Given the description of an element on the screen output the (x, y) to click on. 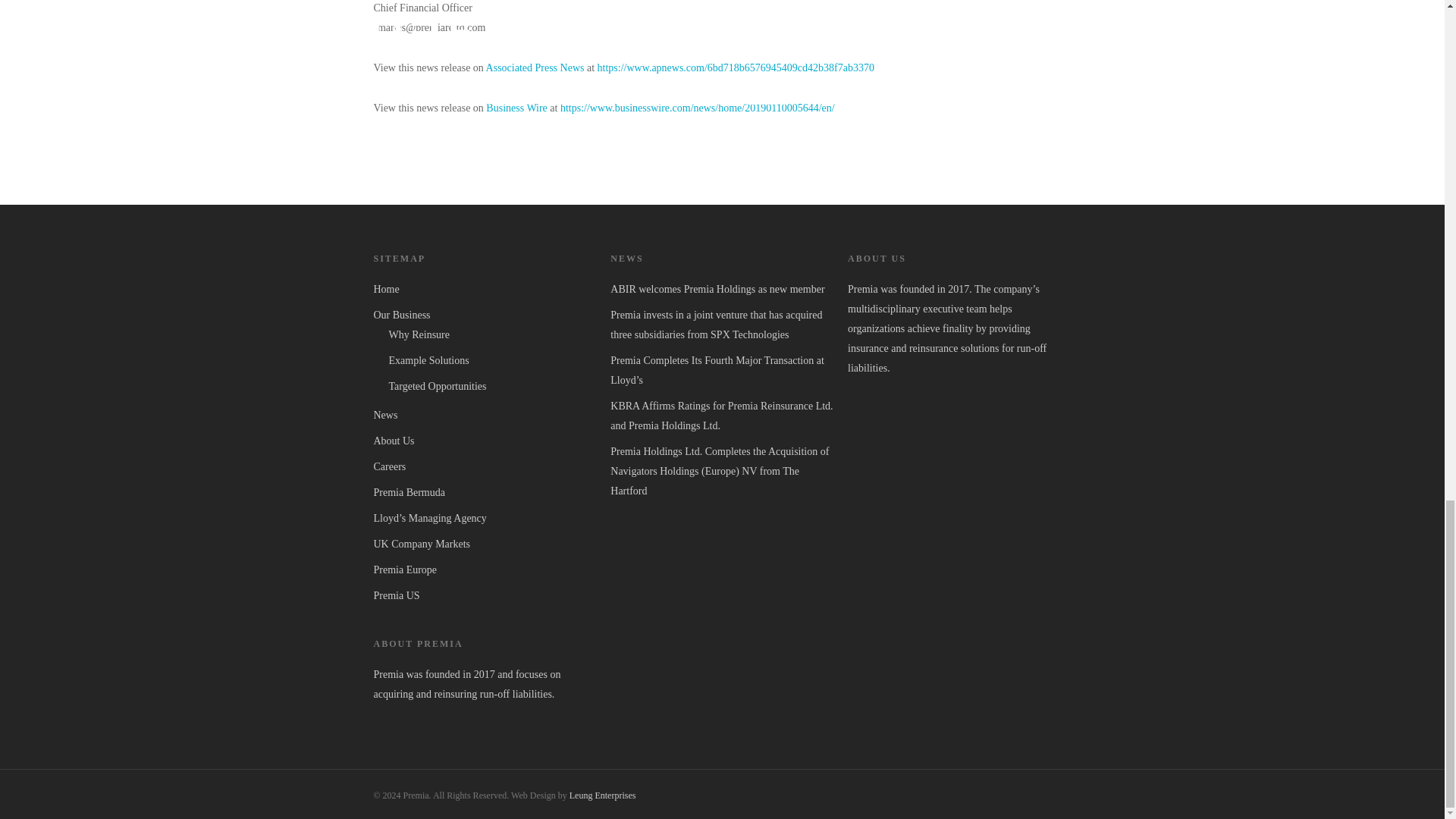
Targeted Opportunities (491, 386)
Why Reinsure (491, 334)
News (483, 415)
Home (483, 289)
Premia US (483, 596)
Careers (483, 466)
Premia Bermuda (483, 492)
Associated Press News (535, 67)
Our Business (483, 315)
Example Solutions (491, 361)
ABIR welcomes Premia Holdings as new member (721, 289)
About Us (483, 441)
UK Company Markets (483, 544)
Business Wire (516, 107)
Premia Europe (483, 569)
